Given the description of an element on the screen output the (x, y) to click on. 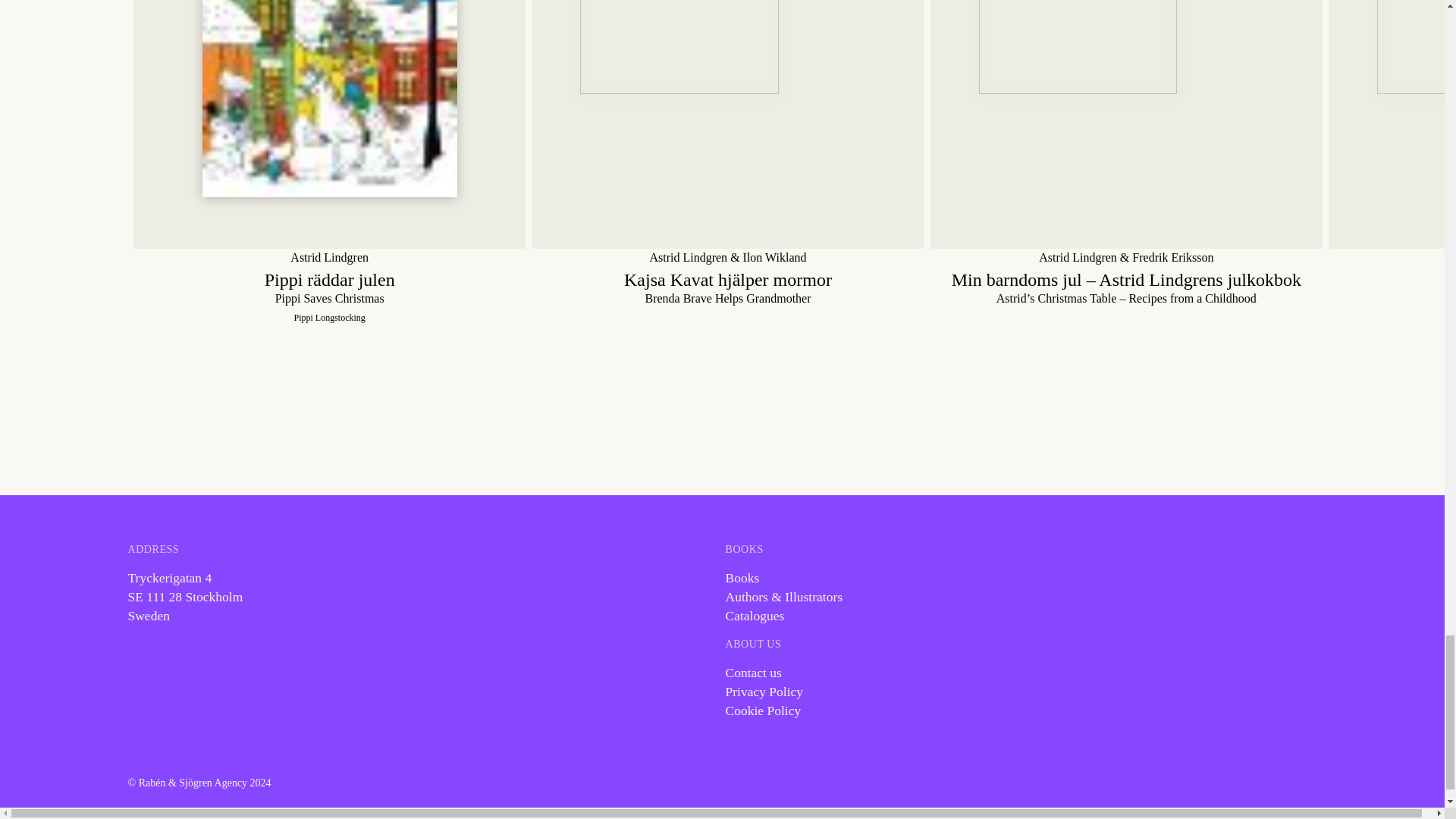
Pippi Saves Christmas (329, 287)
Brenda Brave Helps Grandmother (727, 124)
Brenda Brave Helps Grandmother (727, 287)
Pippi Saves Christmas (329, 124)
